Given the description of an element on the screen output the (x, y) to click on. 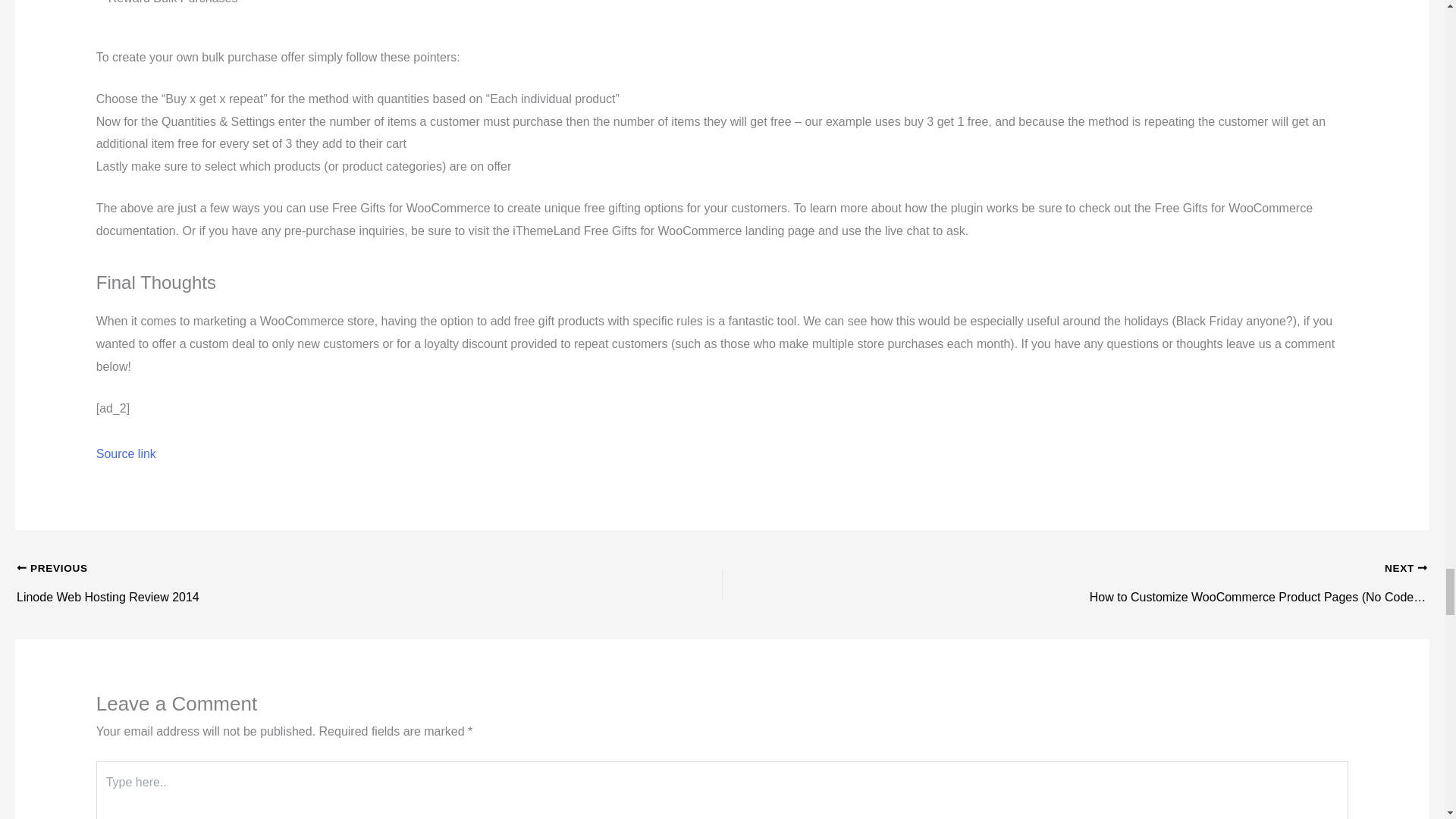
Linode Web Hosting Review 2014 (299, 569)
Reward Bulk Purchases (167, 4)
Source link (299, 569)
